Given the description of an element on the screen output the (x, y) to click on. 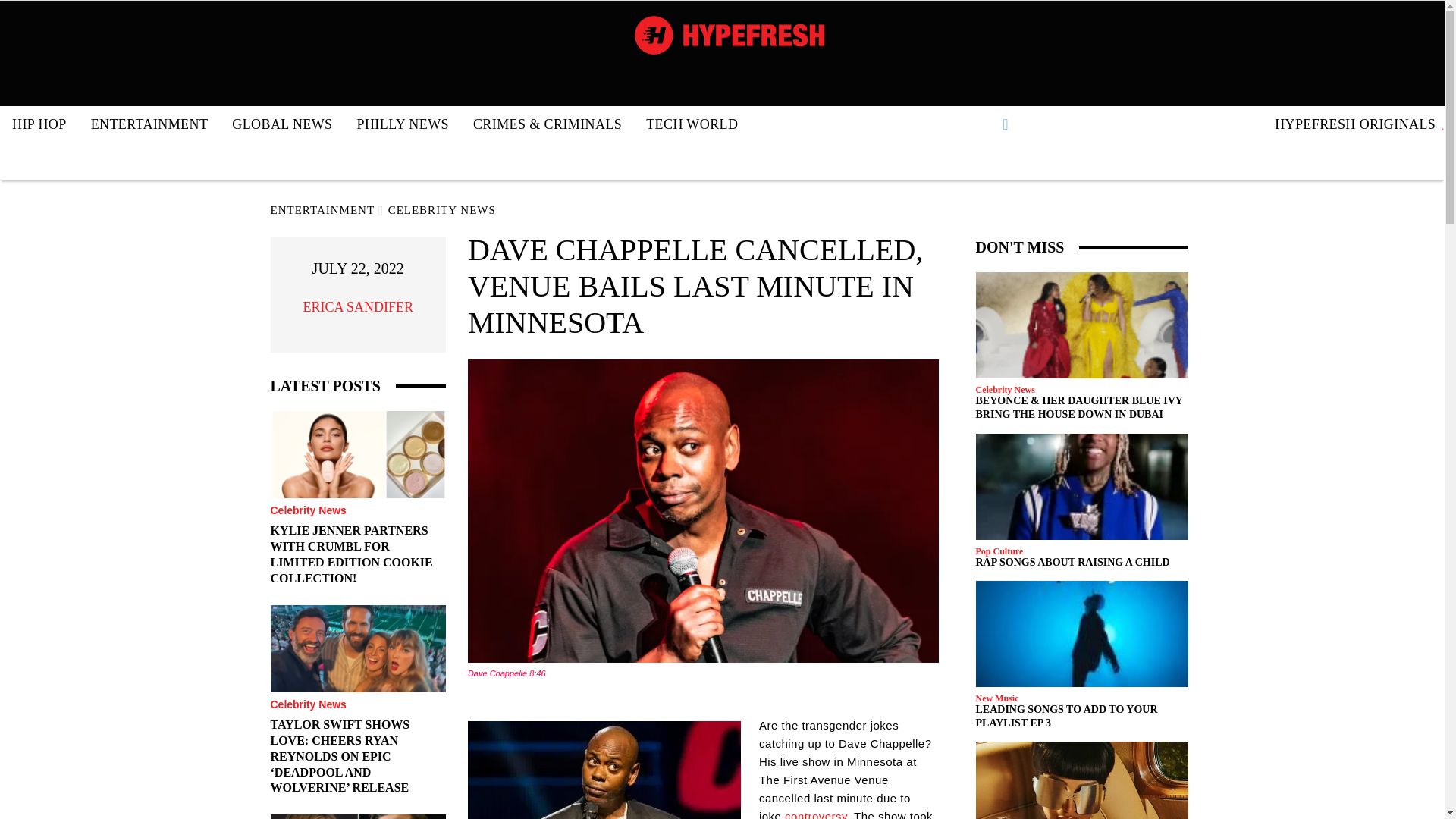
HIP HOP (39, 124)
